Given the description of an element on the screen output the (x, y) to click on. 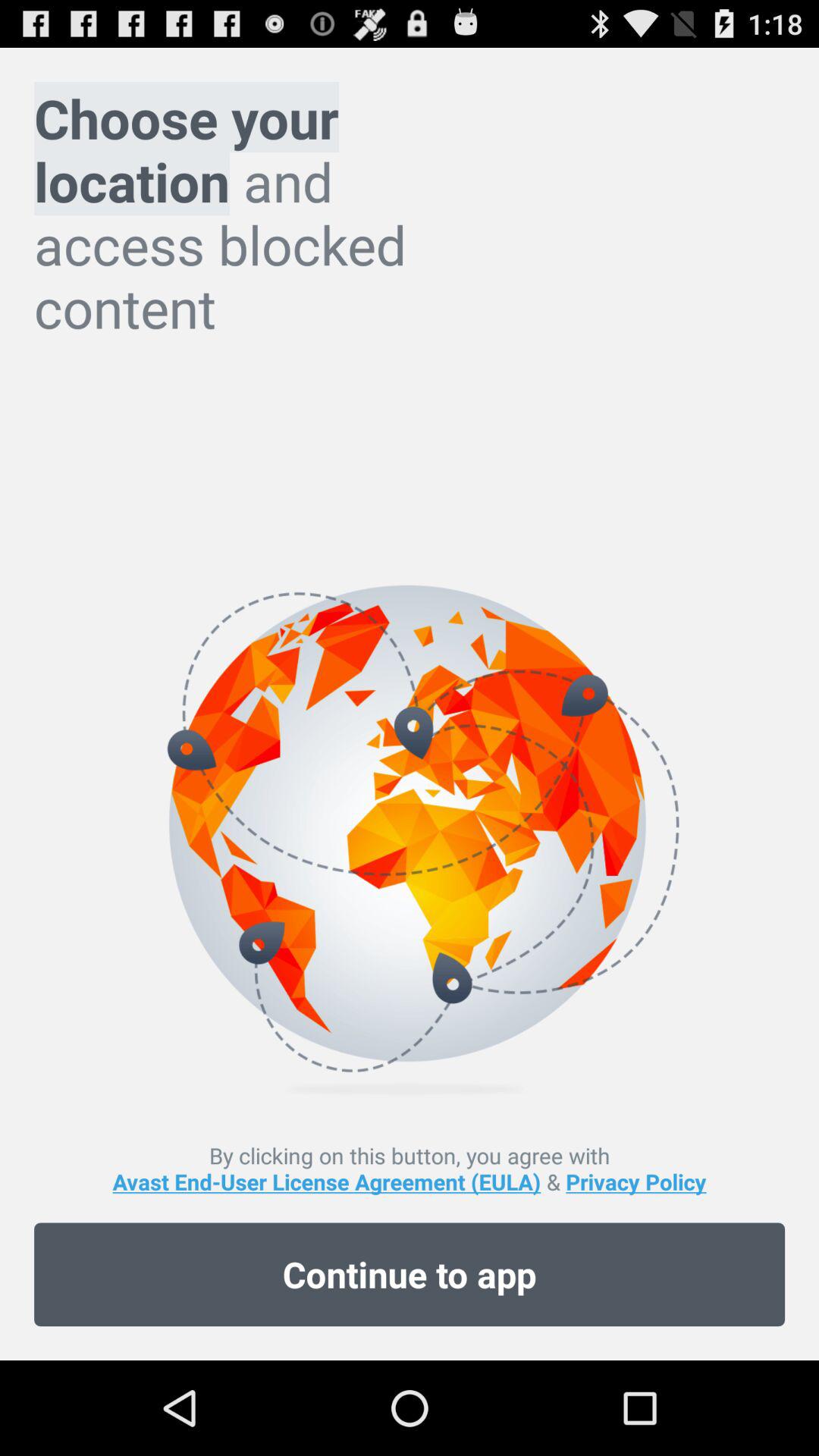
click icon below by clicking on app (409, 1274)
